Given the description of an element on the screen output the (x, y) to click on. 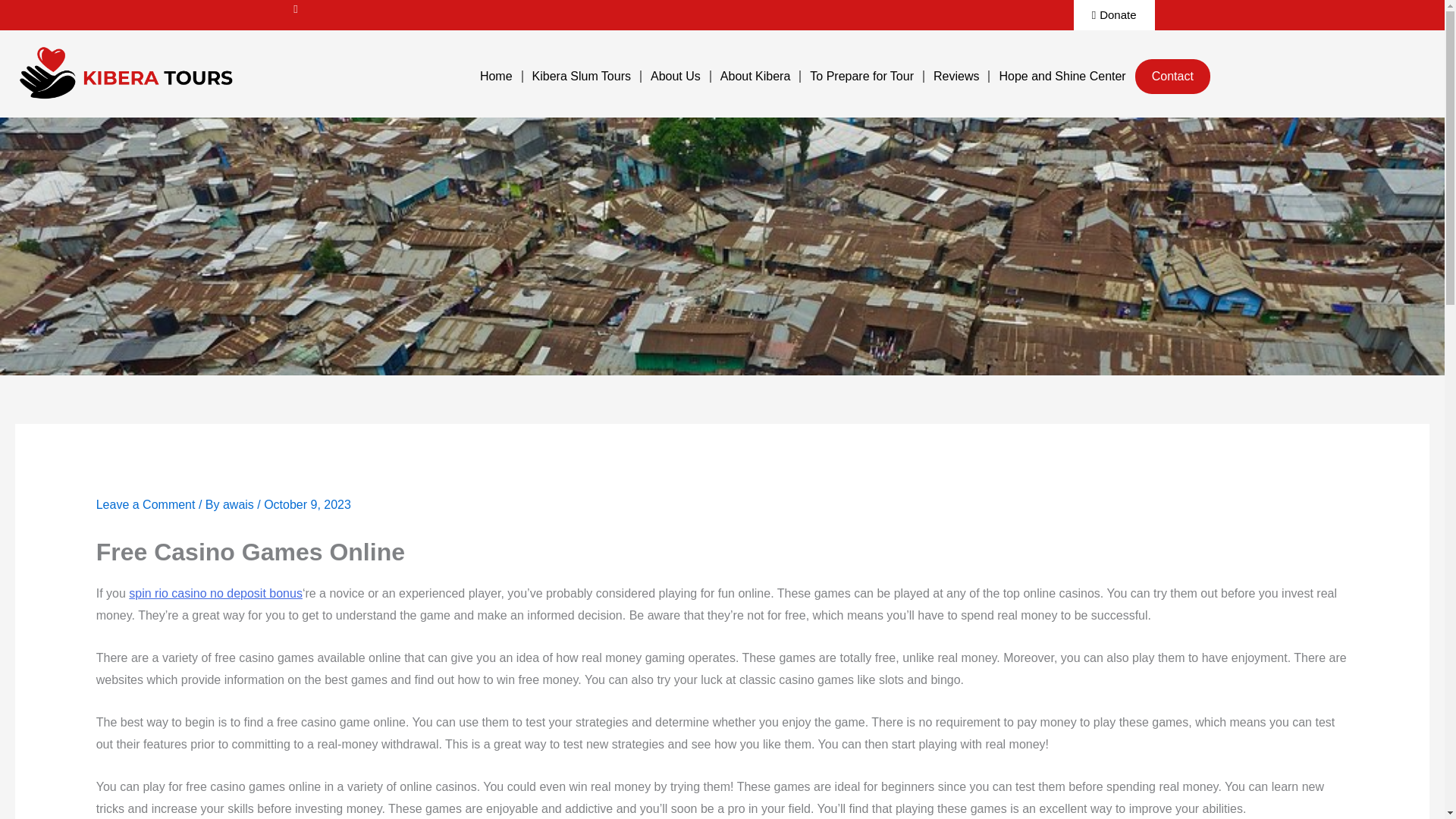
Contact (1172, 76)
Hope and Shine Center (1062, 76)
spin rio casino no deposit bonus (215, 593)
Reviews (956, 76)
Kibera Slum Tours (581, 76)
Leave a Comment (145, 504)
About Kibera (755, 76)
View all posts by awais (239, 504)
Home (495, 76)
To Prepare for Tour (861, 76)
Donate (1114, 15)
About Us (676, 76)
awais (239, 504)
